Given the description of an element on the screen output the (x, y) to click on. 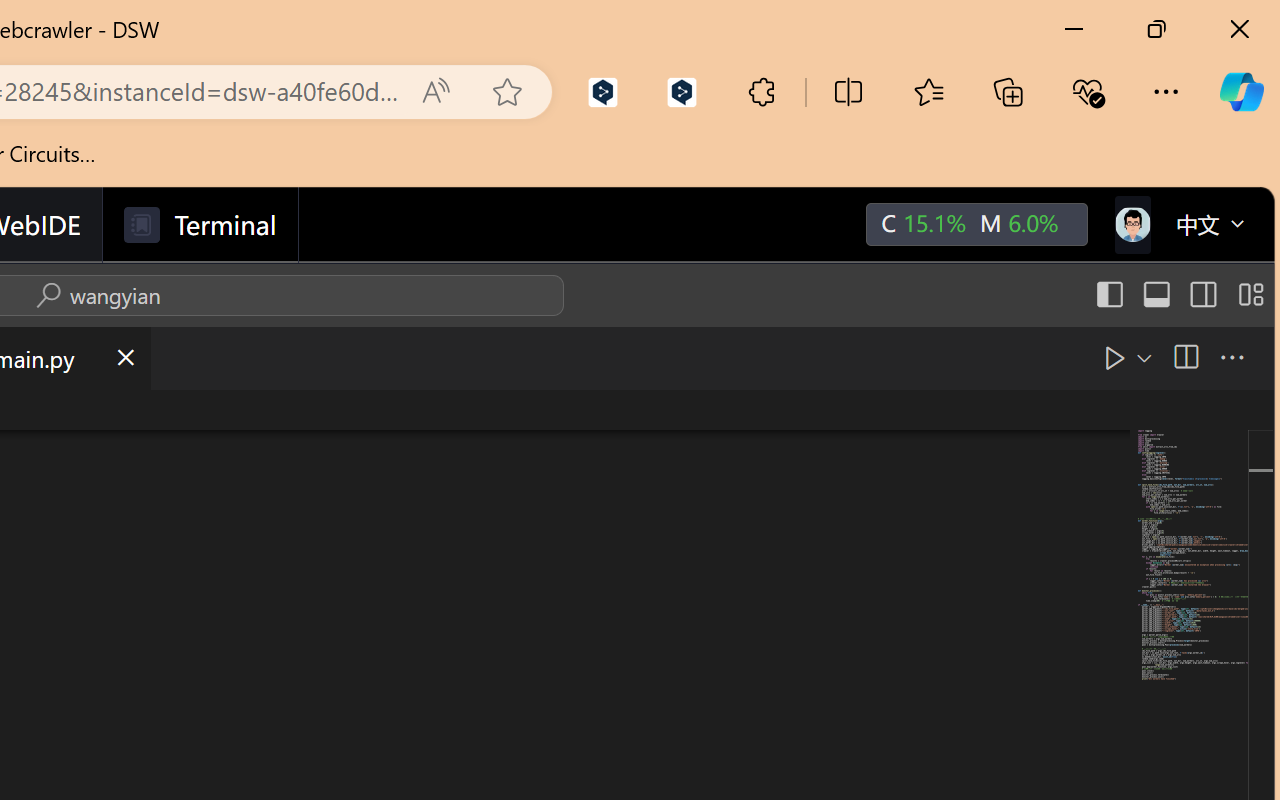
Customize Layout... (1248, 295)
